Given the description of an element on the screen output the (x, y) to click on. 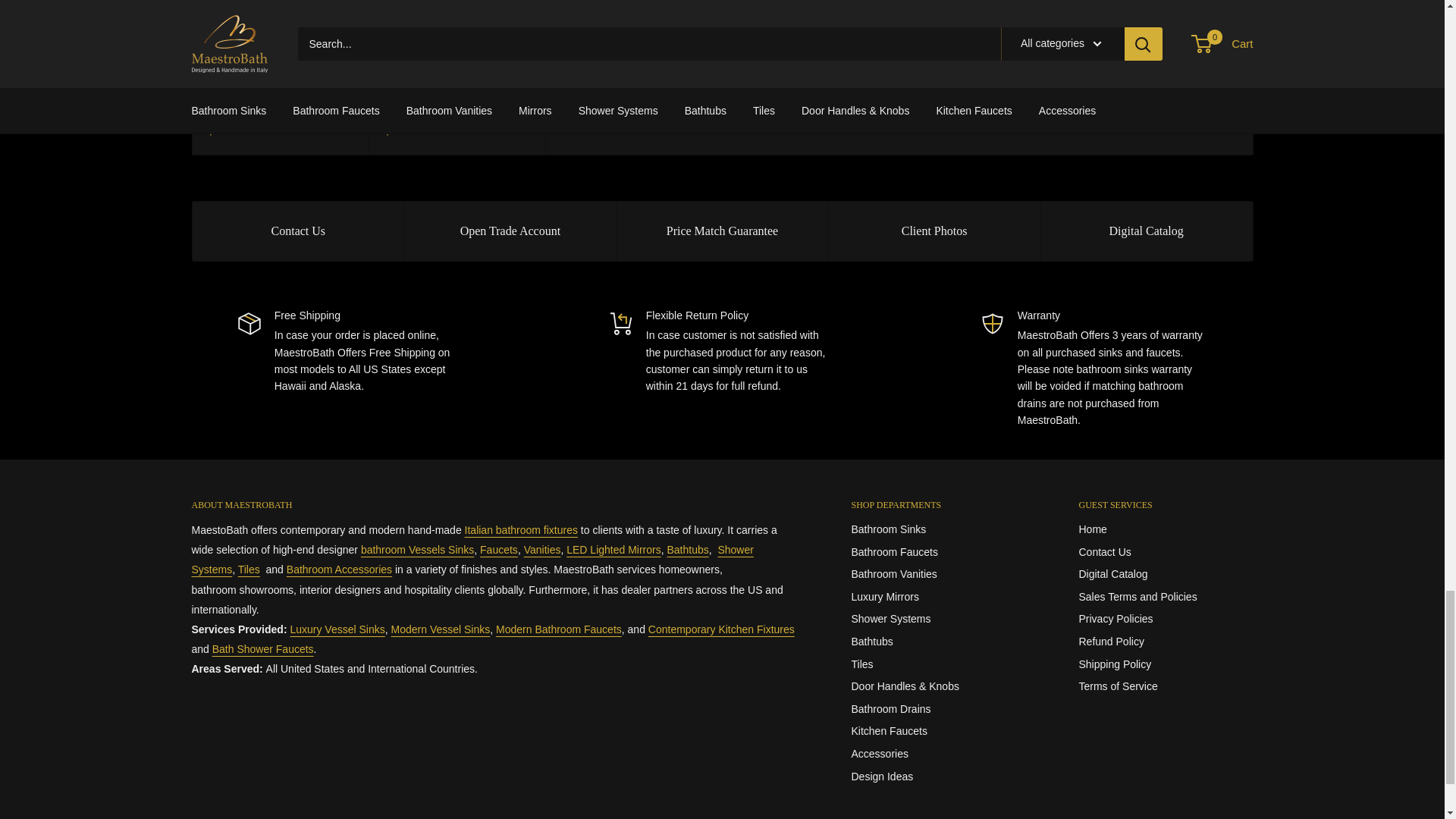
Accessories and Hardware (338, 569)
Tiles (249, 569)
All Bathroom Faucets (558, 629)
Vessel Sinks (440, 629)
Luxury Vessel Sinks (336, 629)
Kitchen Faucets (720, 629)
Shower Systems (263, 648)
Bathroom Vanities (542, 549)
Vessel Sinks (417, 549)
Luxury Mirrors (613, 549)
Shower Systems (471, 559)
Bathroom Faucets (499, 549)
Bathtubs (687, 549)
